Given the description of an element on the screen output the (x, y) to click on. 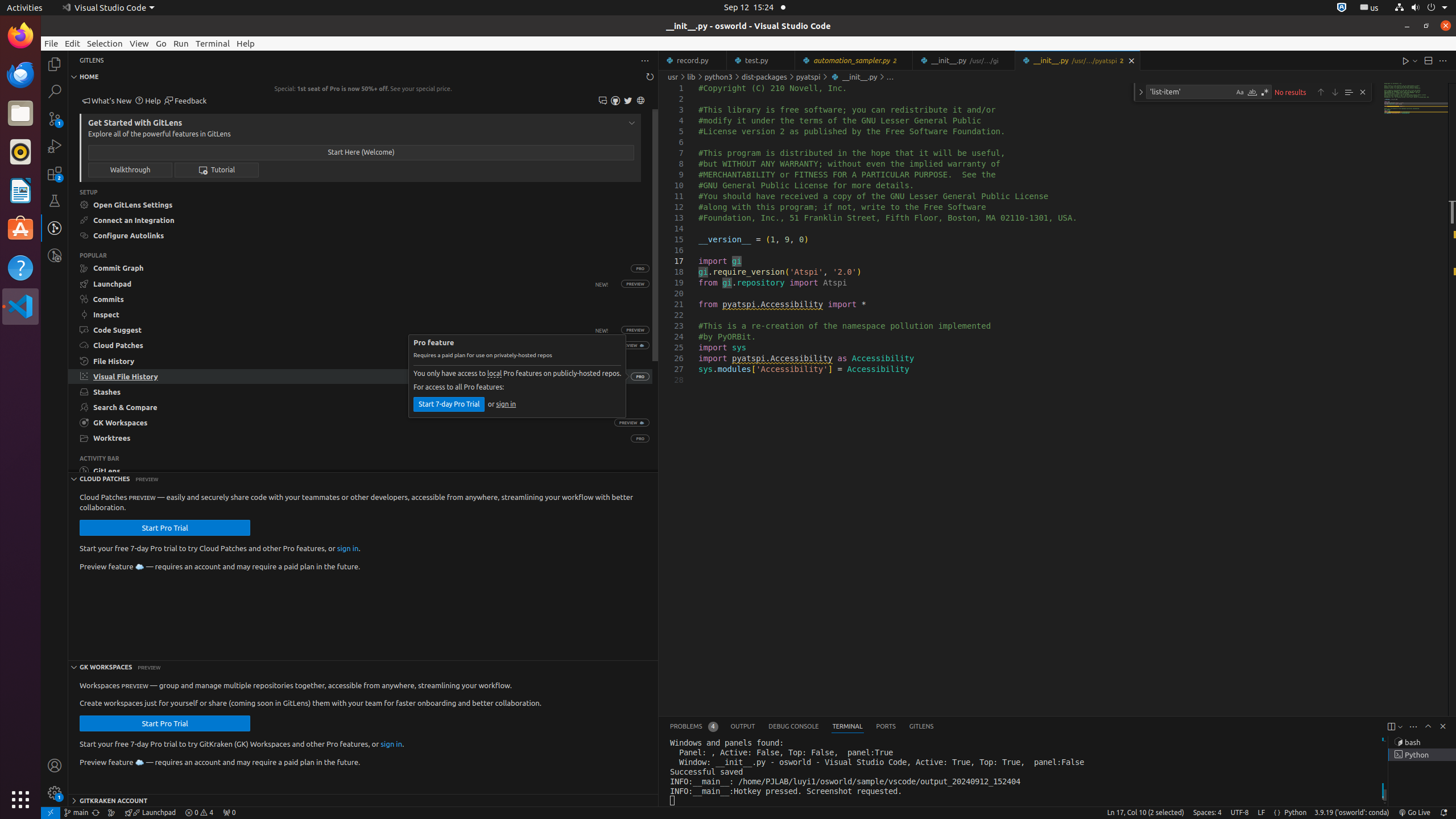
GitLens Inspect Element type: page-tab (54, 255)
Testing Element type: page-tab (54, 200)
Ln 17, Col 10 (2 selected) Element type: push-button (1144, 812)
Close (Ctrl+W) Element type: push-button (1131, 60)
OSWorld (Git) - main, Checkout Branch/Tag... Element type: push-button (75, 812)
